Given the description of an element on the screen output the (x, y) to click on. 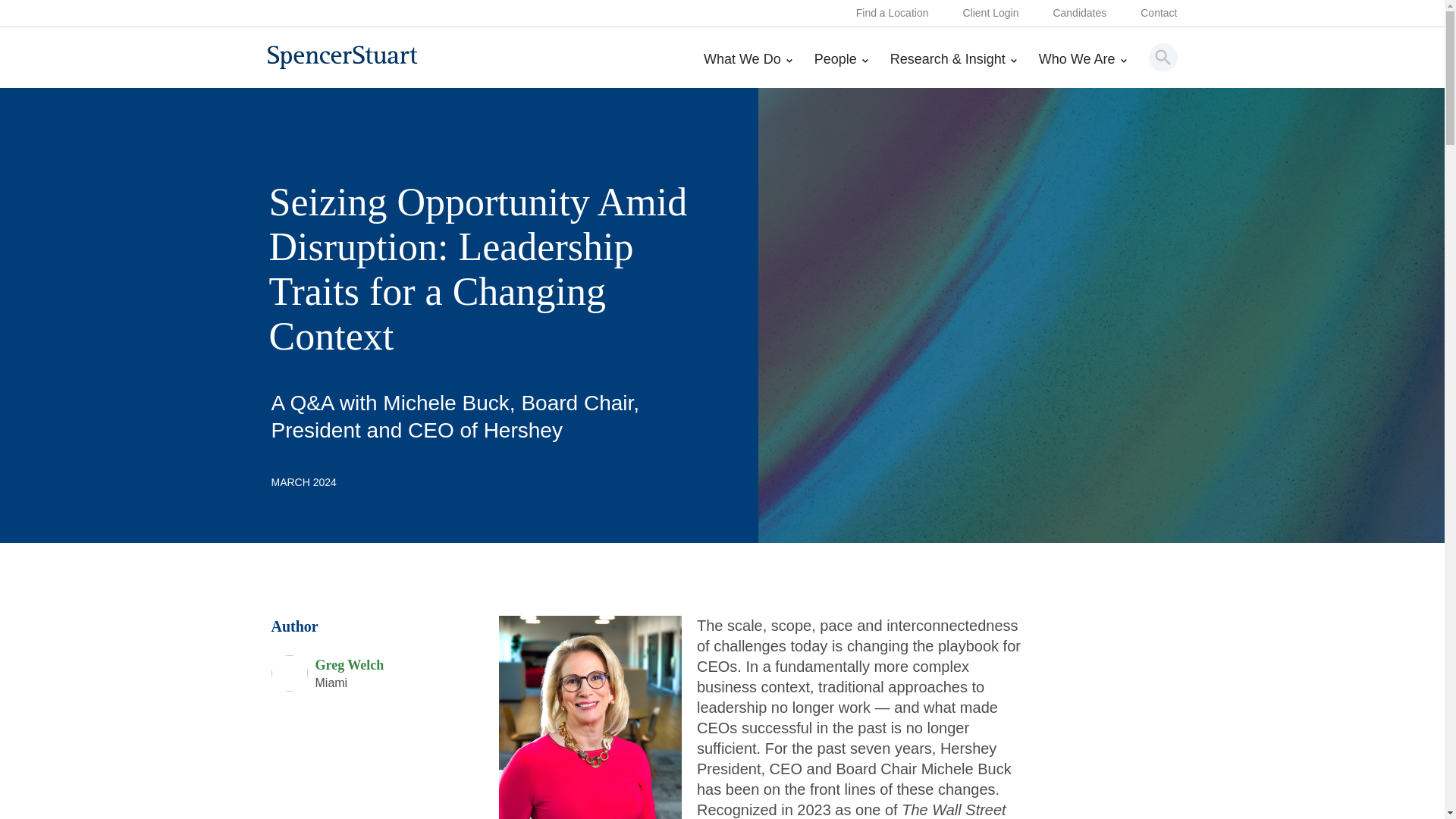
Find a Location (892, 13)
Contact (1158, 13)
Expand Search Bar (1163, 56)
Client Login (989, 13)
What We Do (747, 69)
Candidates (1079, 13)
